Given the description of an element on the screen output the (x, y) to click on. 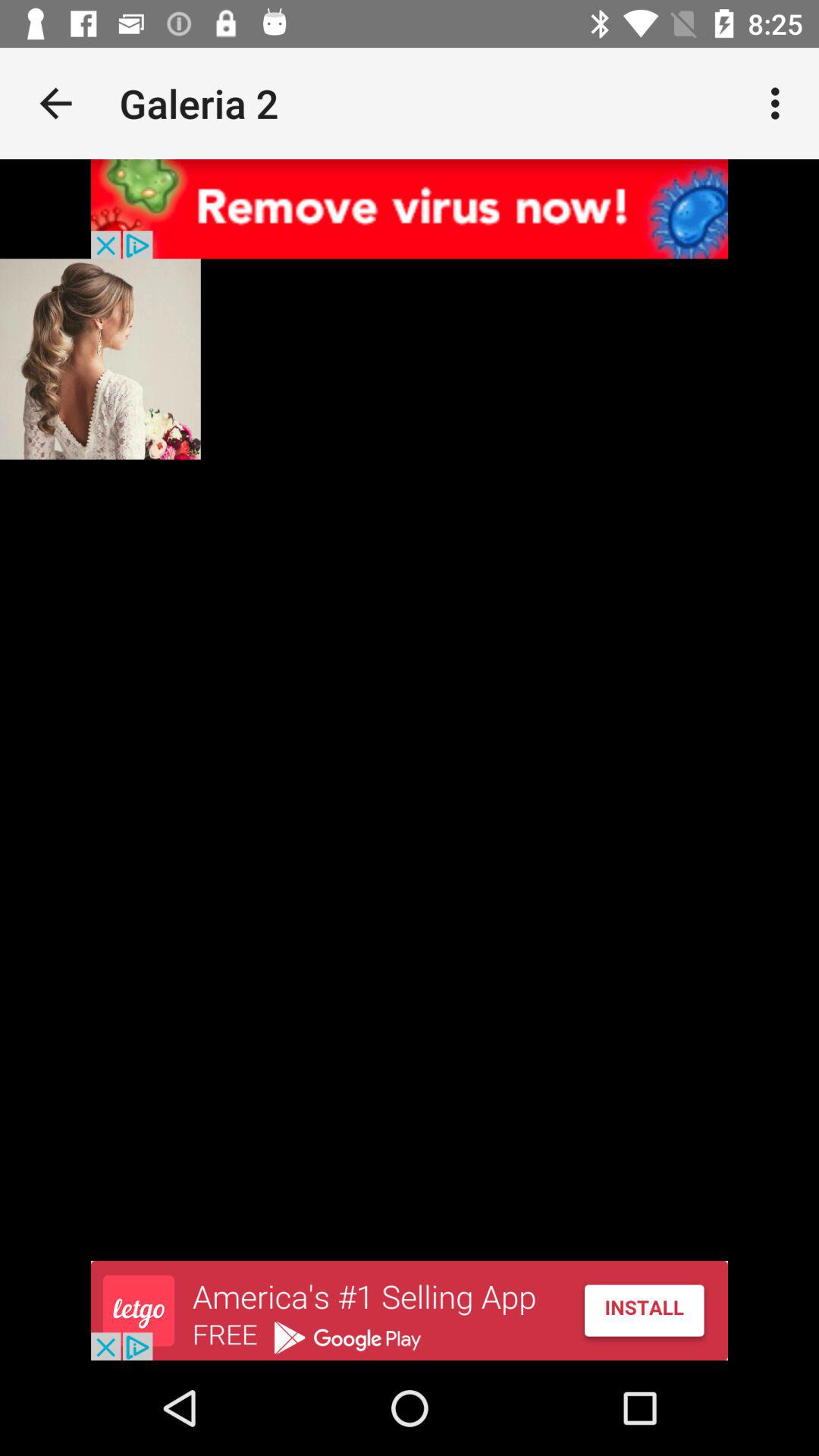
advertisement link (409, 208)
